Given the description of an element on the screen output the (x, y) to click on. 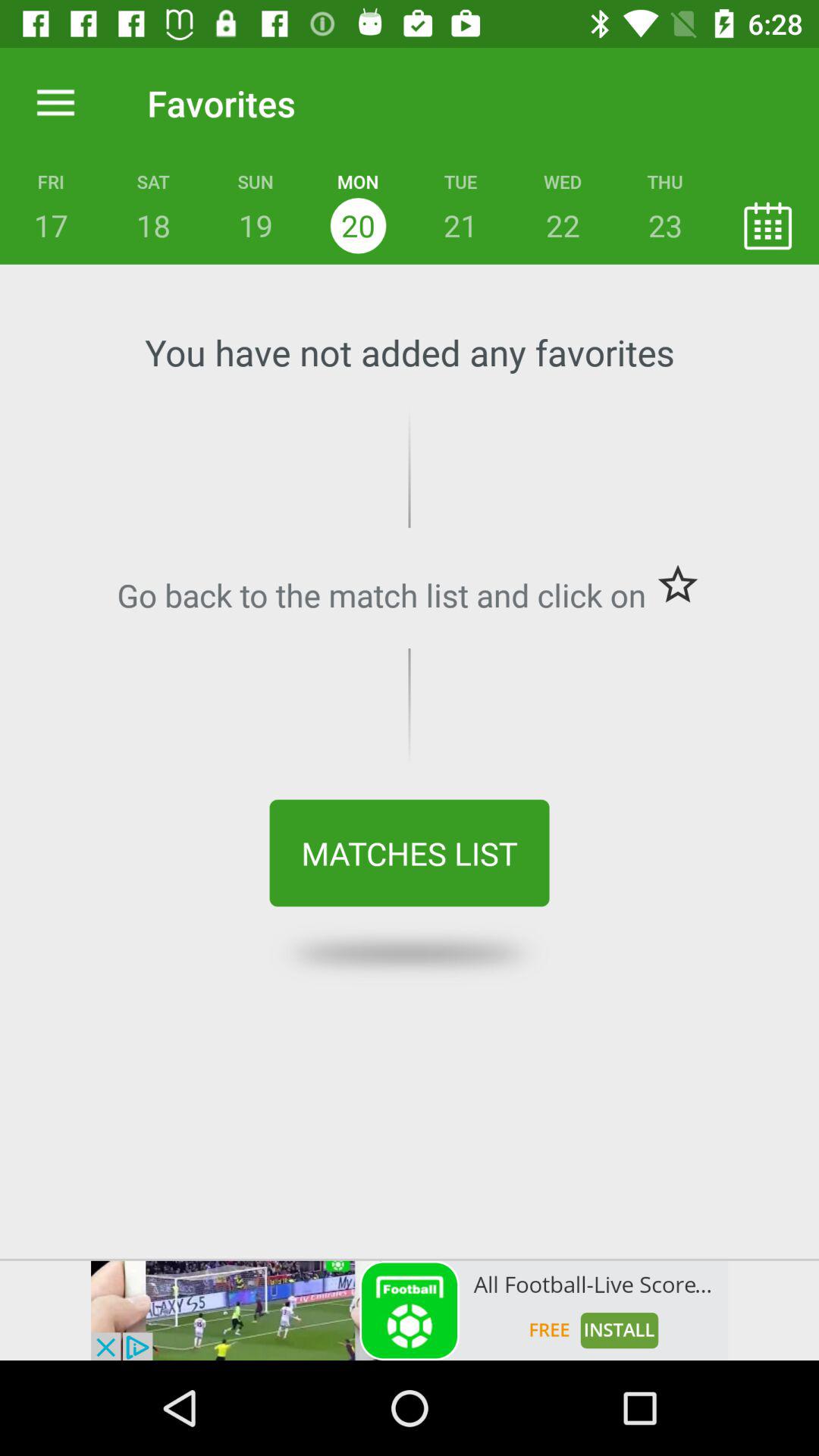
go to the advertised app 's page (409, 1310)
